Given the description of an element on the screen output the (x, y) to click on. 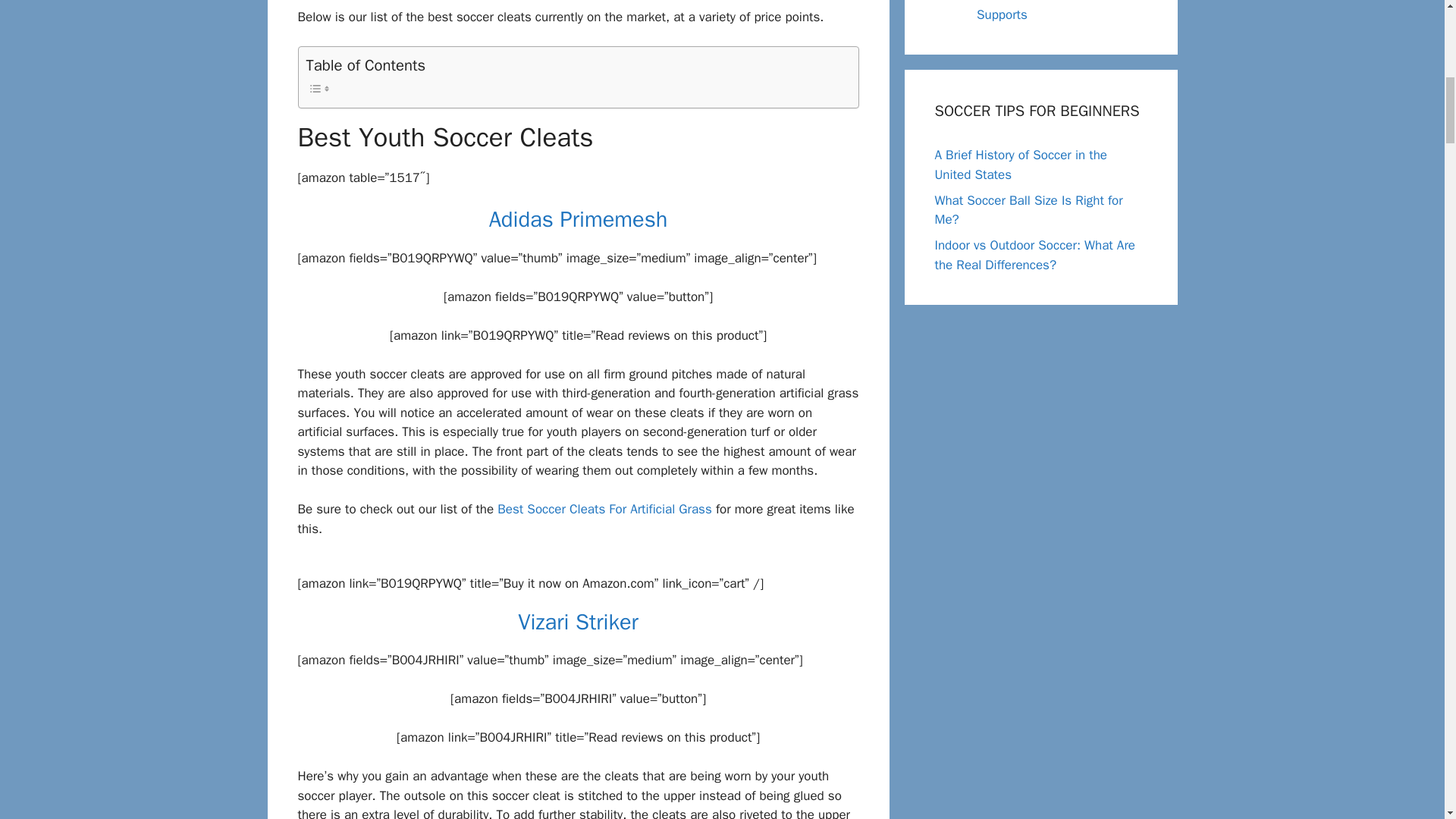
Adidas Primemesh (578, 219)
Best Soccer Cleats For Artificial Grass (604, 508)
Vizari Striker (578, 622)
